Given the description of an element on the screen output the (x, y) to click on. 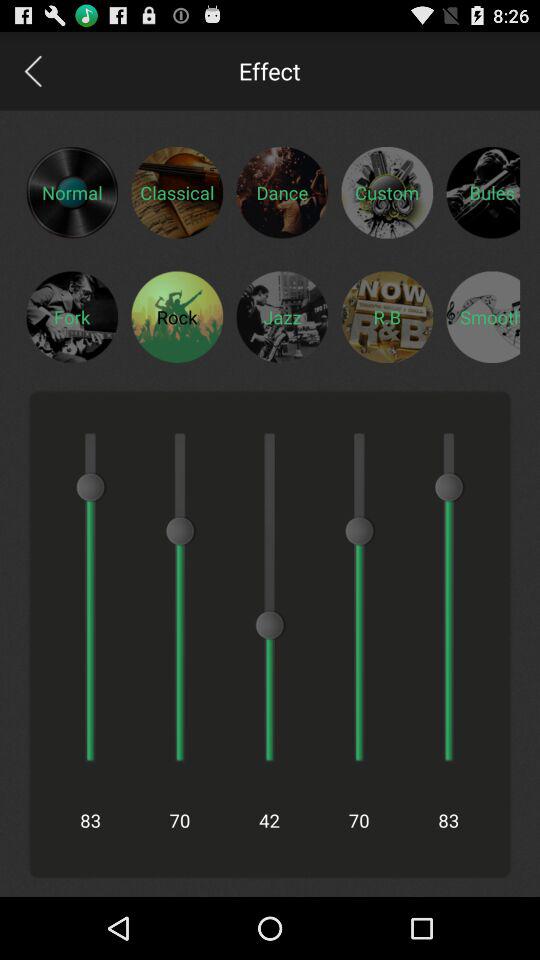
select classical (177, 191)
